Given the description of an element on the screen output the (x, y) to click on. 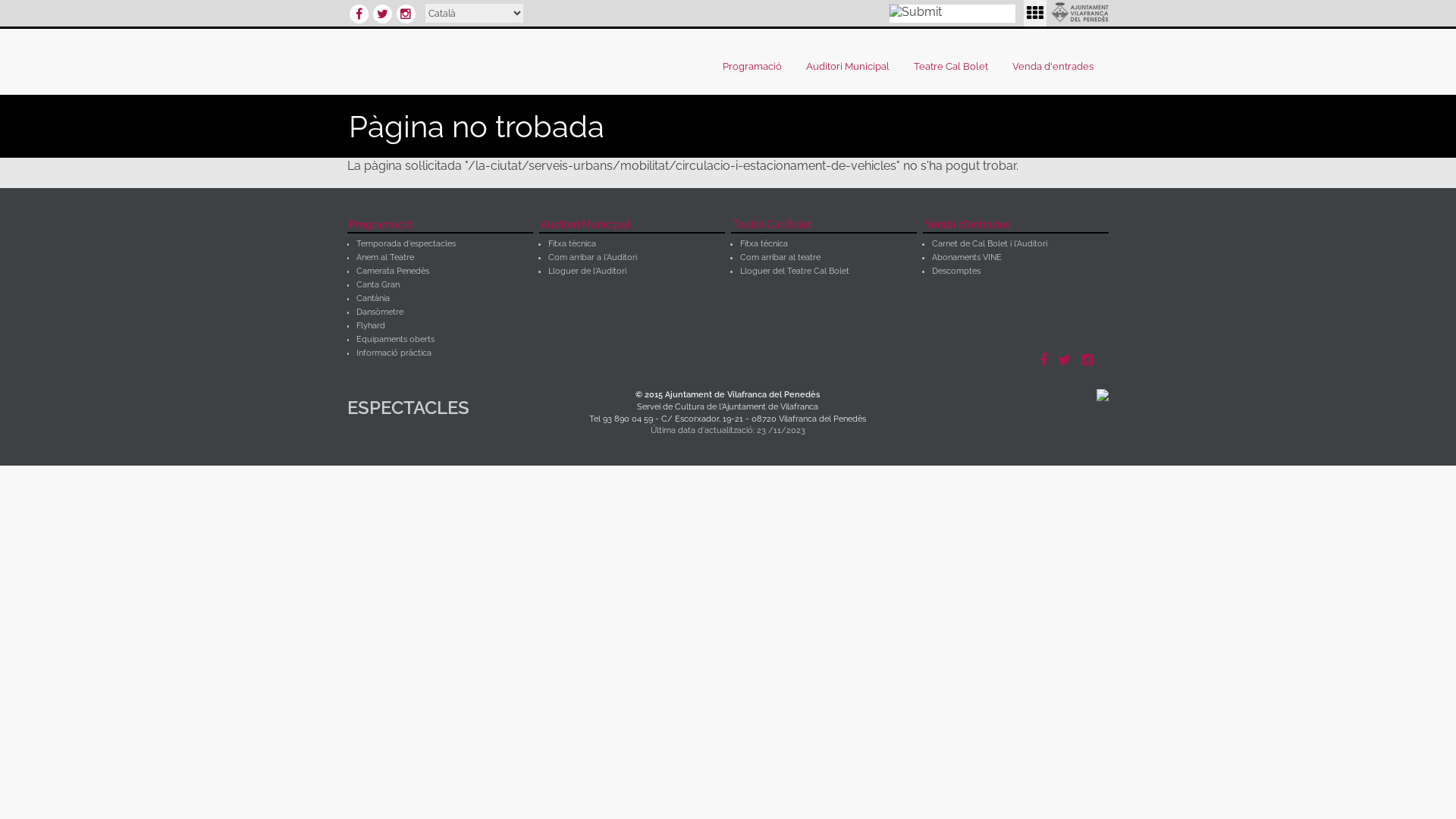
Teatre Cal Bolet Element type: text (954, 66)
Teatre Cal Bolet Element type: text (823, 225)
Lloguer del Teatre Cal Bolet Element type: text (794, 271)
Equipaments oberts Element type: text (395, 339)
Anem al Teatre Element type: text (385, 257)
Venda d'entrades Element type: text (1015, 225)
Com arribar a l'Auditori Element type: text (592, 257)
Descomptes Element type: text (955, 271)
Temporada d'espectacles Element type: text (405, 243)
Auditori Municipal Element type: text (851, 66)
ESPECTACLES Element type: text (430, 411)
Auditori Municipal Element type: text (631, 225)
Flyhard Element type: text (370, 325)
Lloguer de l'Auditori Element type: text (587, 271)
Canta Gran Element type: text (377, 284)
Inici Element type: hover (498, 59)
Abonaments VINE Element type: text (966, 257)
Venda d'entrades Element type: text (1056, 66)
Com arribar al teatre Element type: text (780, 257)
Carnet de Cal Bolet i l'Auditori Element type: text (989, 243)
